Given the description of an element on the screen output the (x, y) to click on. 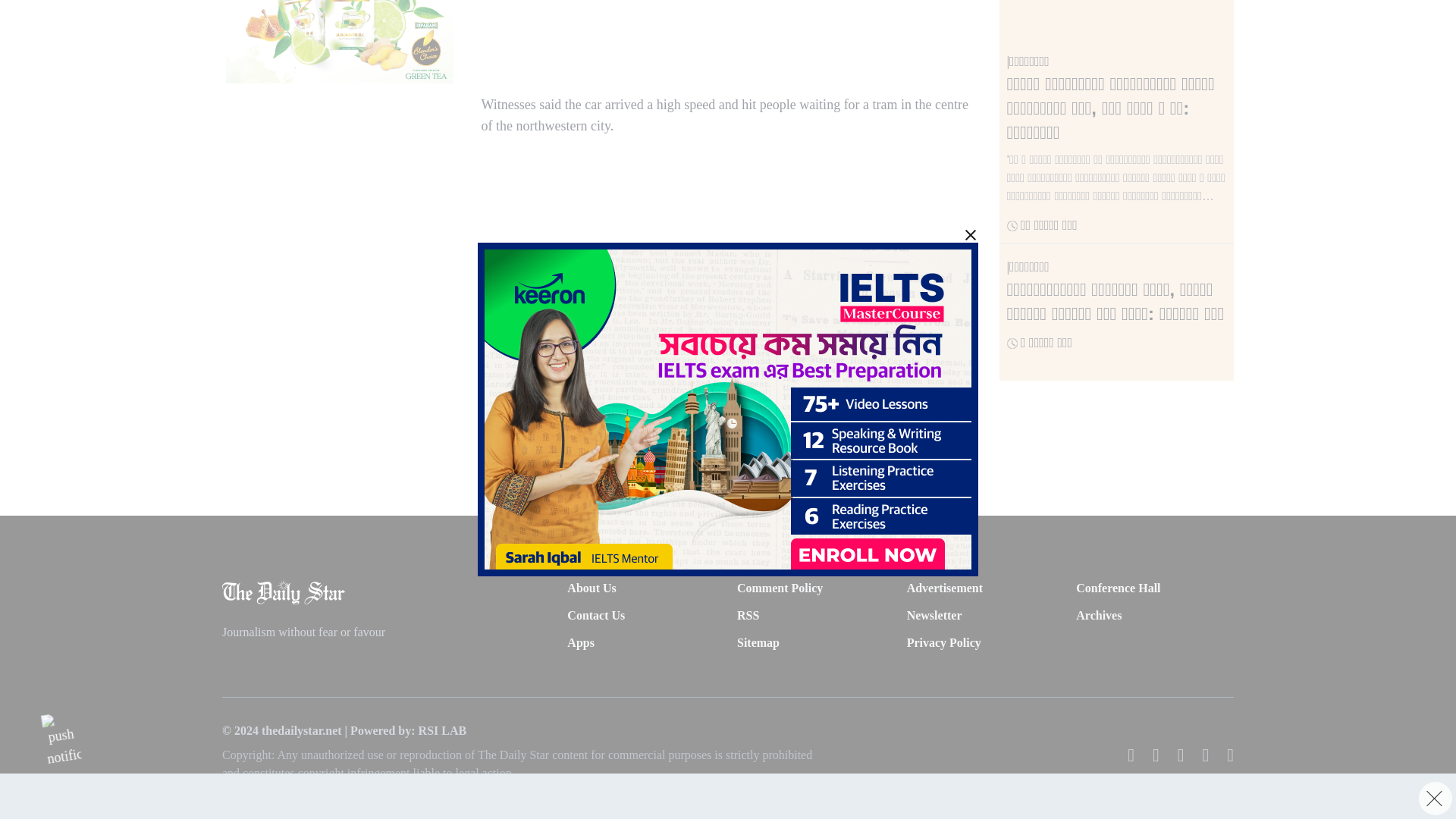
3rd party ad content (727, 35)
3rd party ad content (338, 41)
3rd party ad content (720, 39)
